Given the description of an element on the screen output the (x, y) to click on. 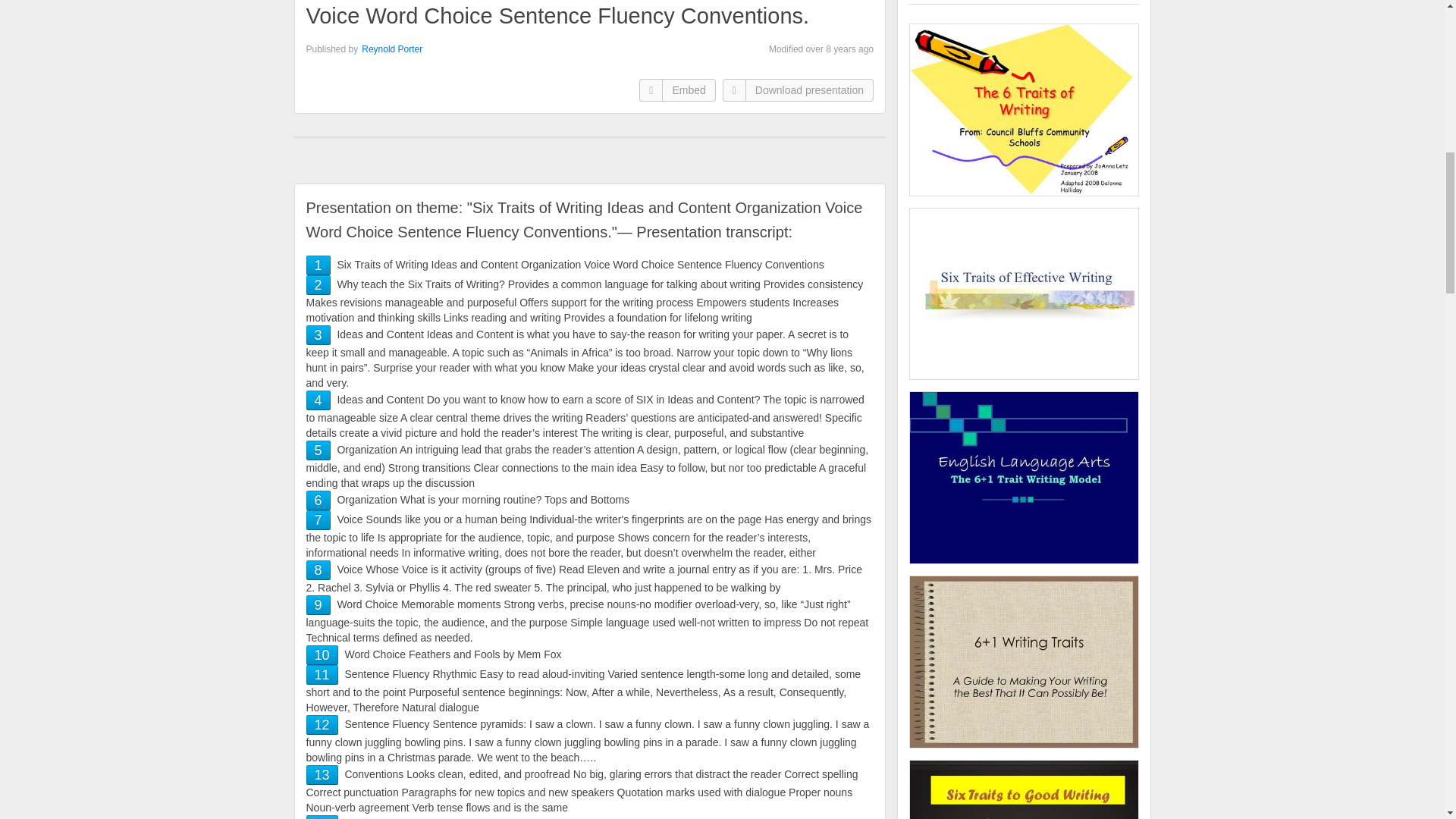
Word Choice Feathers and Fools by Mem Fox (321, 654)
Reynold Porter (391, 49)
Sentence Fluency Sentence pyramids: I saw a clown. (321, 724)
